Given the description of an element on the screen output the (x, y) to click on. 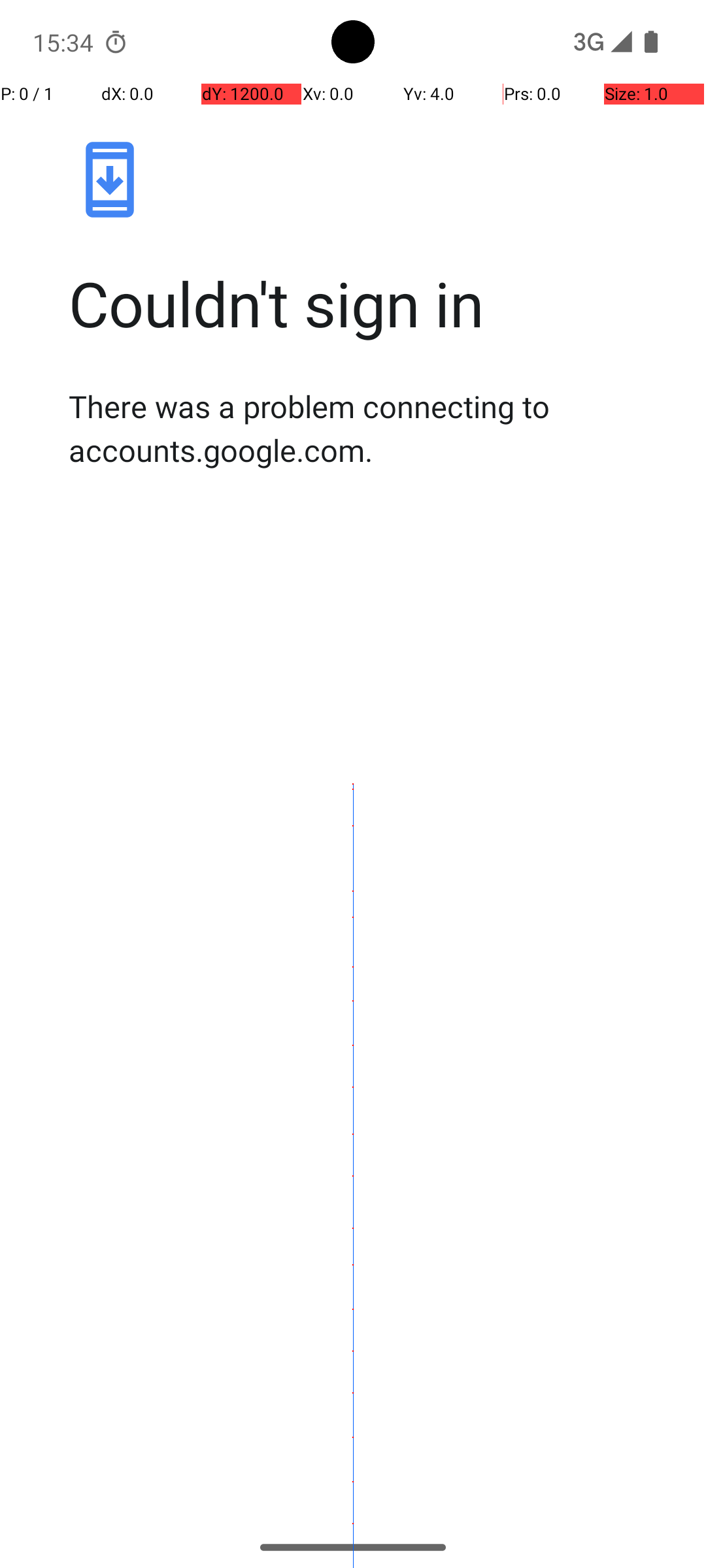
There was a problem connecting to accounts.google.com. Element type: android.widget.TextView (366, 427)
